Given the description of an element on the screen output the (x, y) to click on. 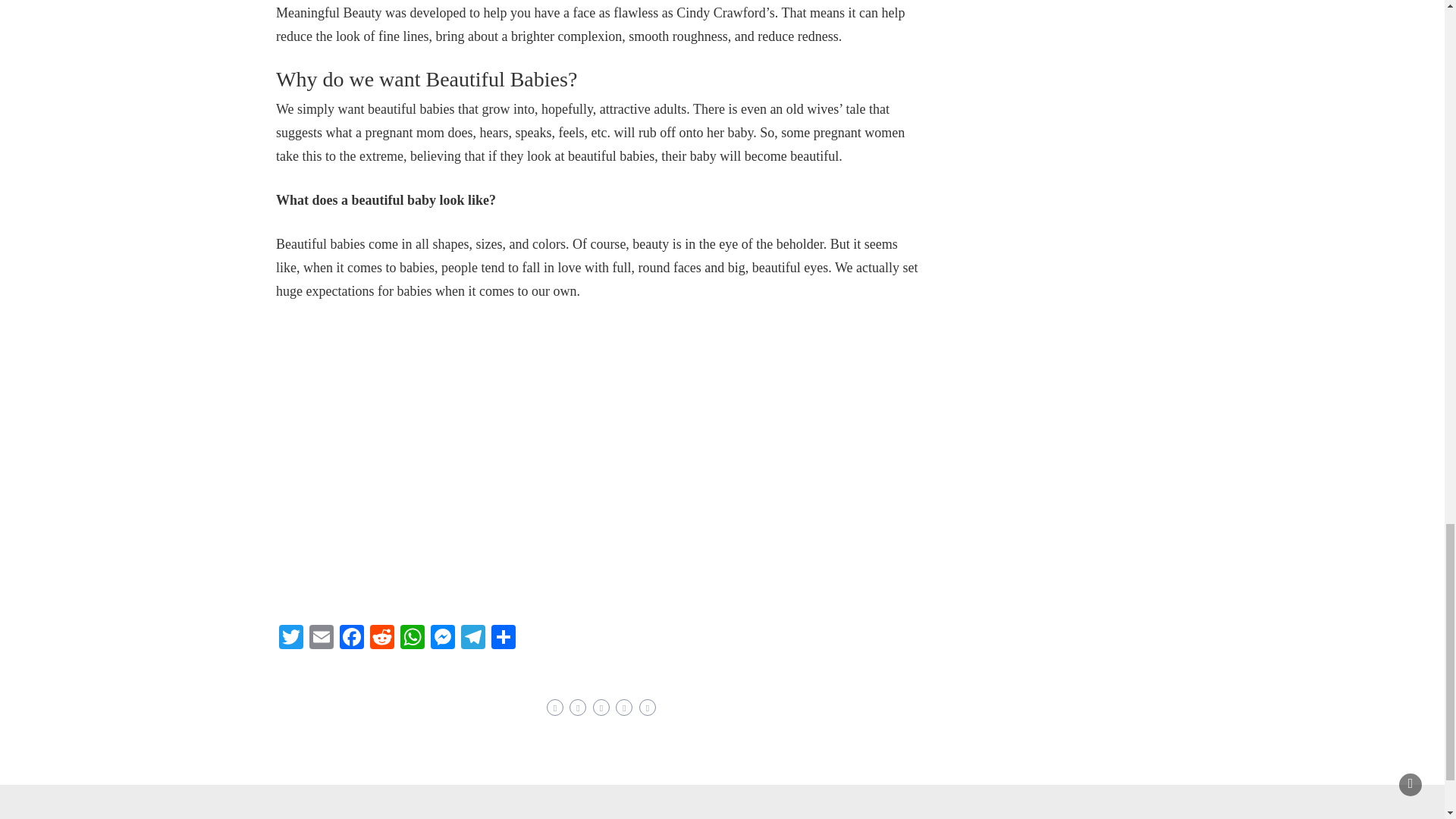
WhatsApp (412, 638)
Messenger (443, 638)
Messenger (443, 638)
Telegram (472, 638)
Twitter (290, 638)
Share (502, 638)
Facebook (351, 638)
Reddit (381, 638)
Twitter (290, 638)
Facebook (351, 638)
Telegram (472, 638)
Reddit (381, 638)
WhatsApp (412, 638)
Email (320, 638)
Email (320, 638)
